Given the description of an element on the screen output the (x, y) to click on. 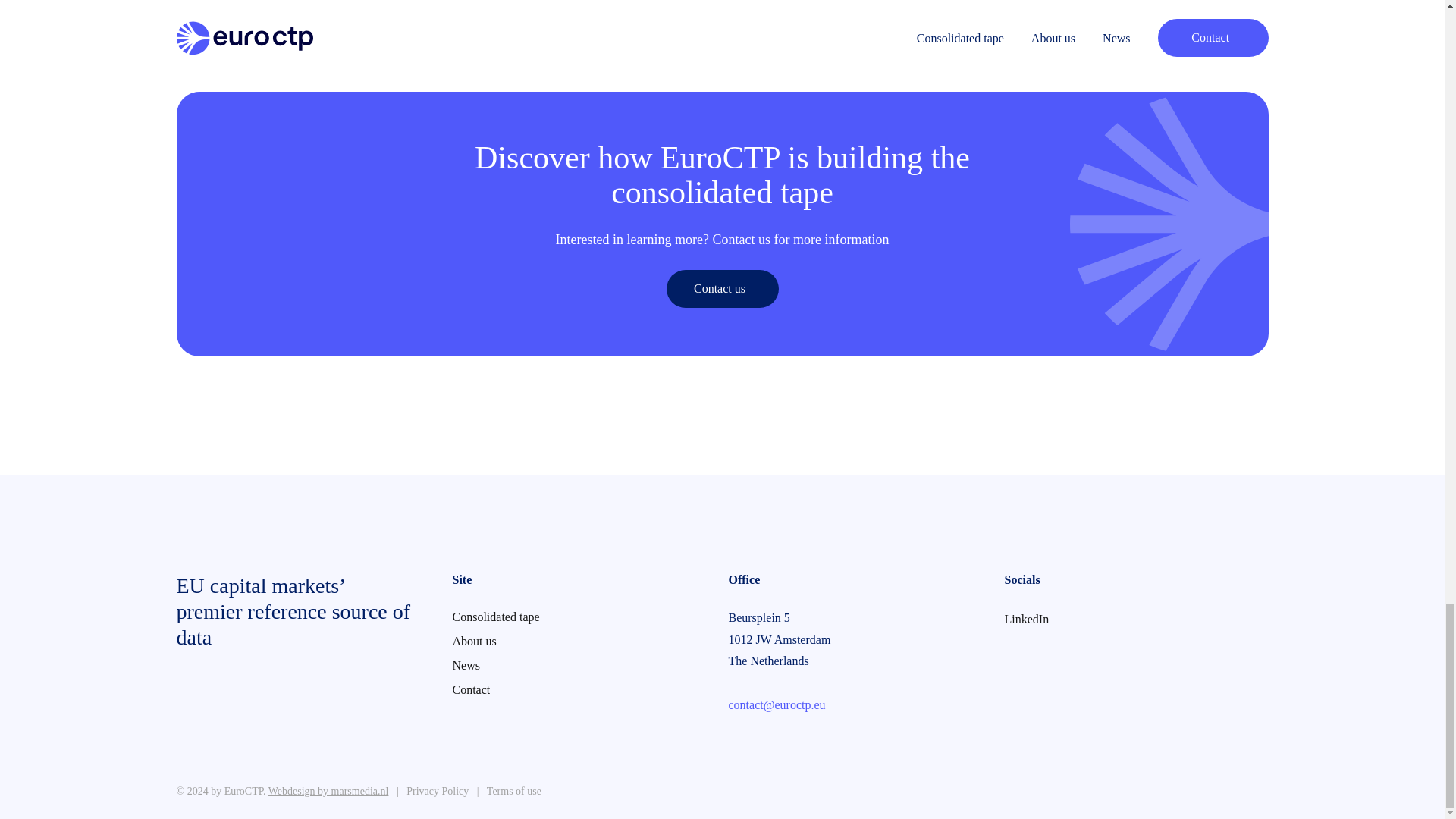
Contact (505, 689)
Terms of use (513, 790)
Webdesign by marsmedia.nl (327, 790)
Privacy Policy  (438, 790)
Contact us (721, 288)
About us (505, 641)
News (505, 665)
Consolidated tape (505, 617)
LinkedIn (1058, 619)
